Given the description of an element on the screen output the (x, y) to click on. 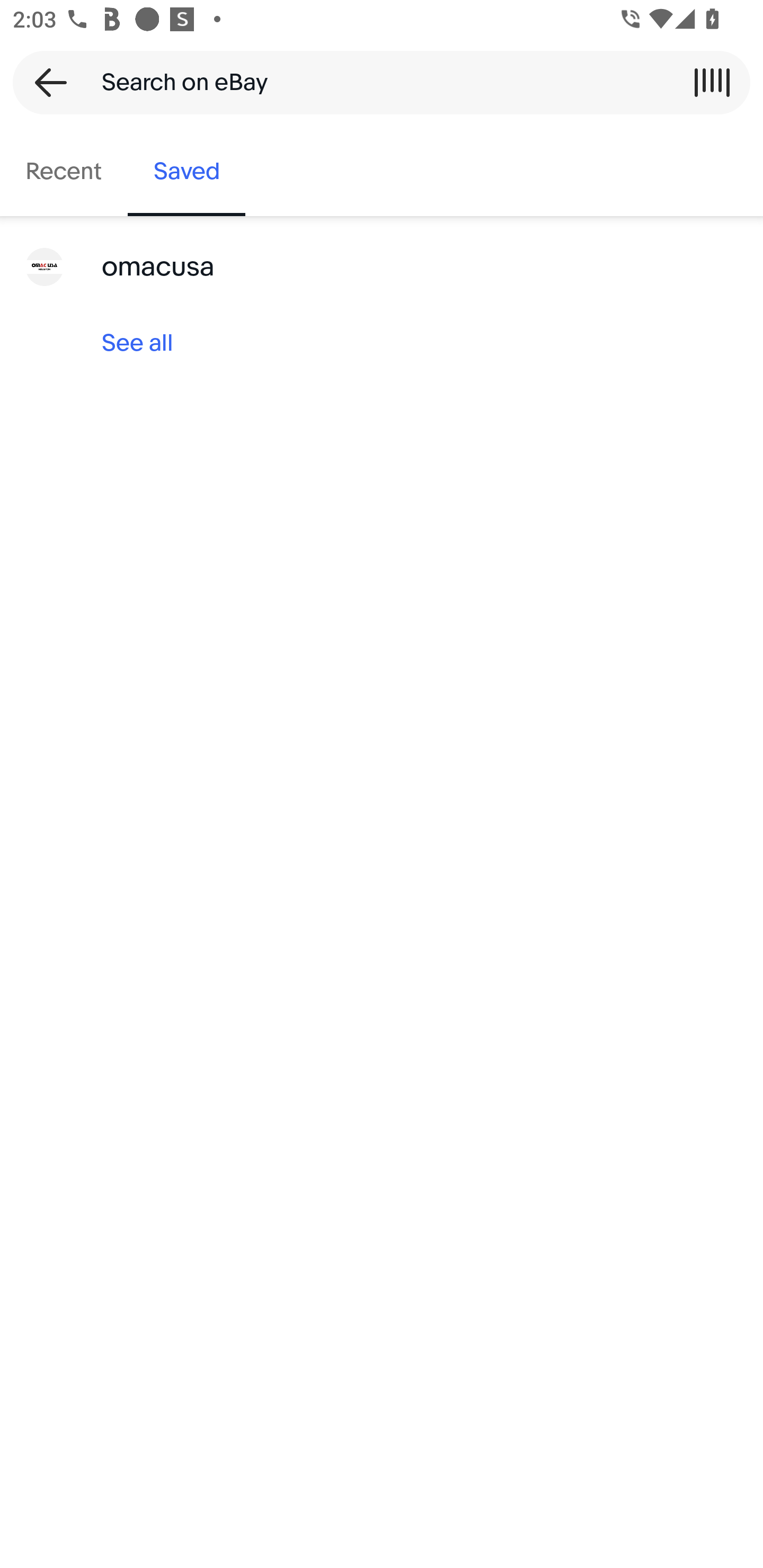
Back (44, 82)
Scan a barcode (711, 82)
Search on eBay (375, 82)
Recent, tab 1 of 2 Recent (63, 171)
User Search omacusa: omacusa (381, 266)
See all See all members (381, 343)
